Given the description of an element on the screen output the (x, y) to click on. 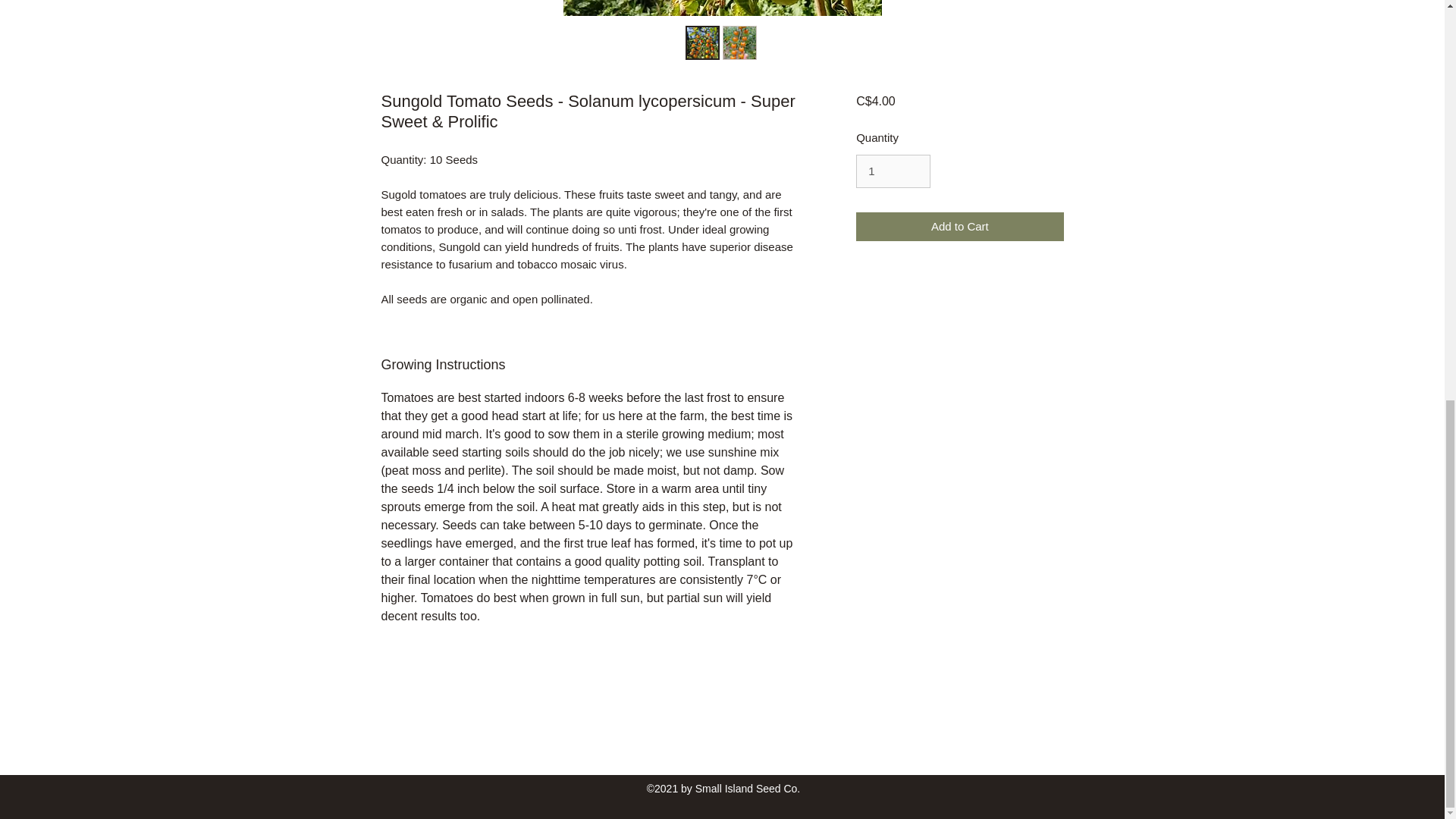
1 (893, 171)
Add to Cart (959, 226)
